Given the description of an element on the screen output the (x, y) to click on. 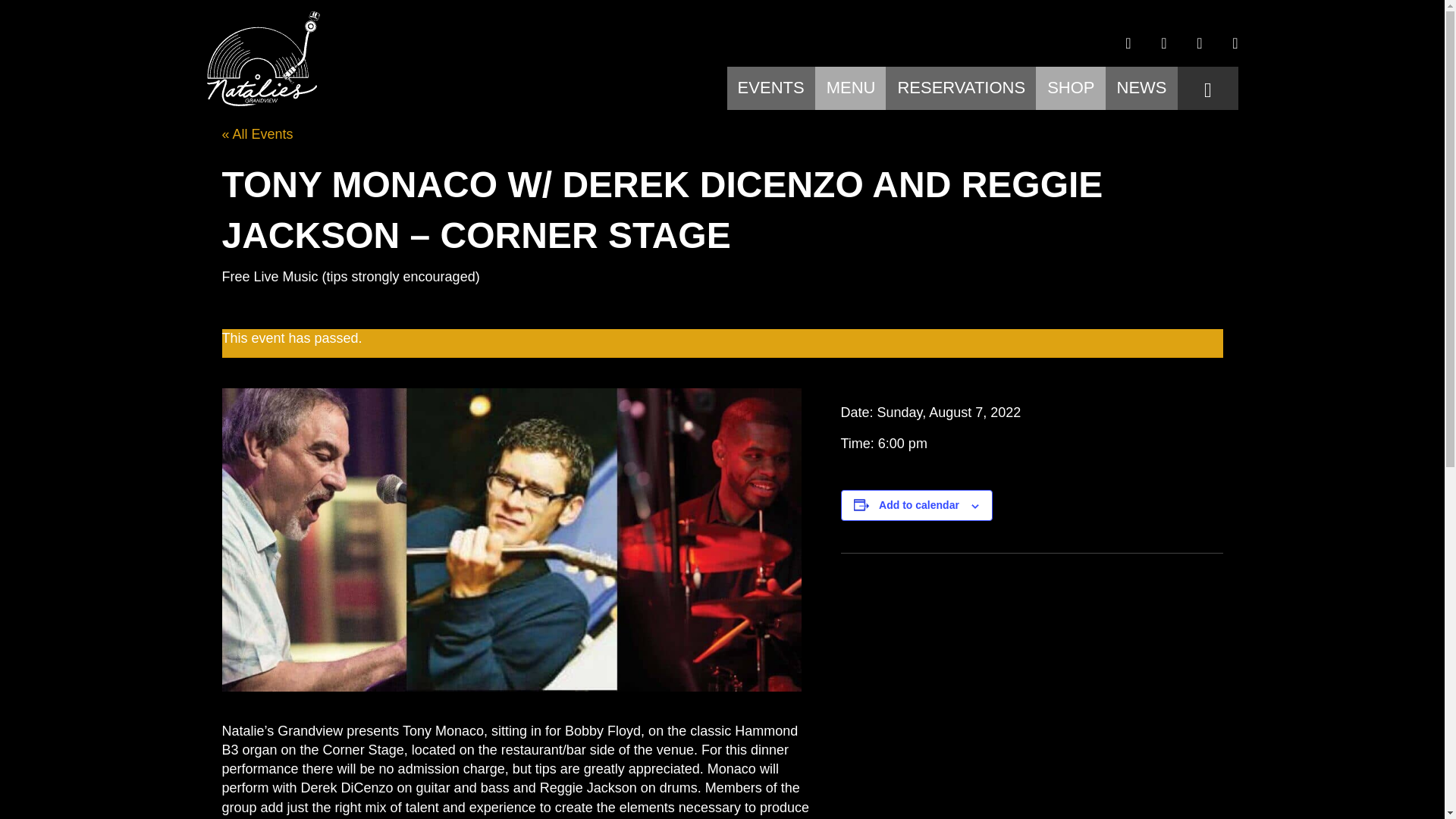
Add to calendar (919, 504)
Natalies-Grandview-logo-149x125 (262, 58)
RESERVATIONS (960, 90)
MENU (851, 90)
EVENTS (771, 90)
NEWS (1141, 90)
SHOP (1070, 90)
